Given the description of an element on the screen output the (x, y) to click on. 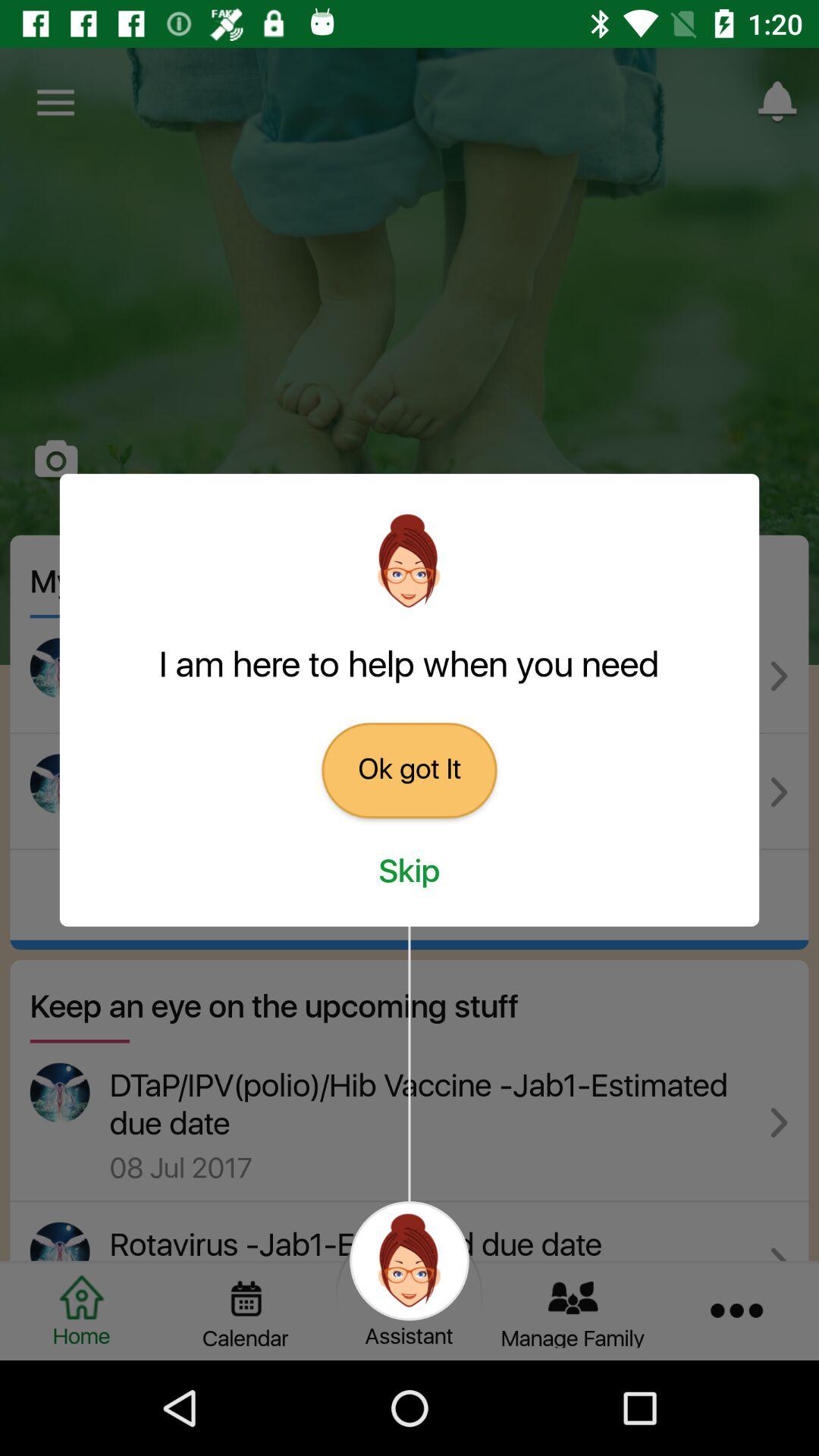
tap ok got it item (409, 770)
